Given the description of an element on the screen output the (x, y) to click on. 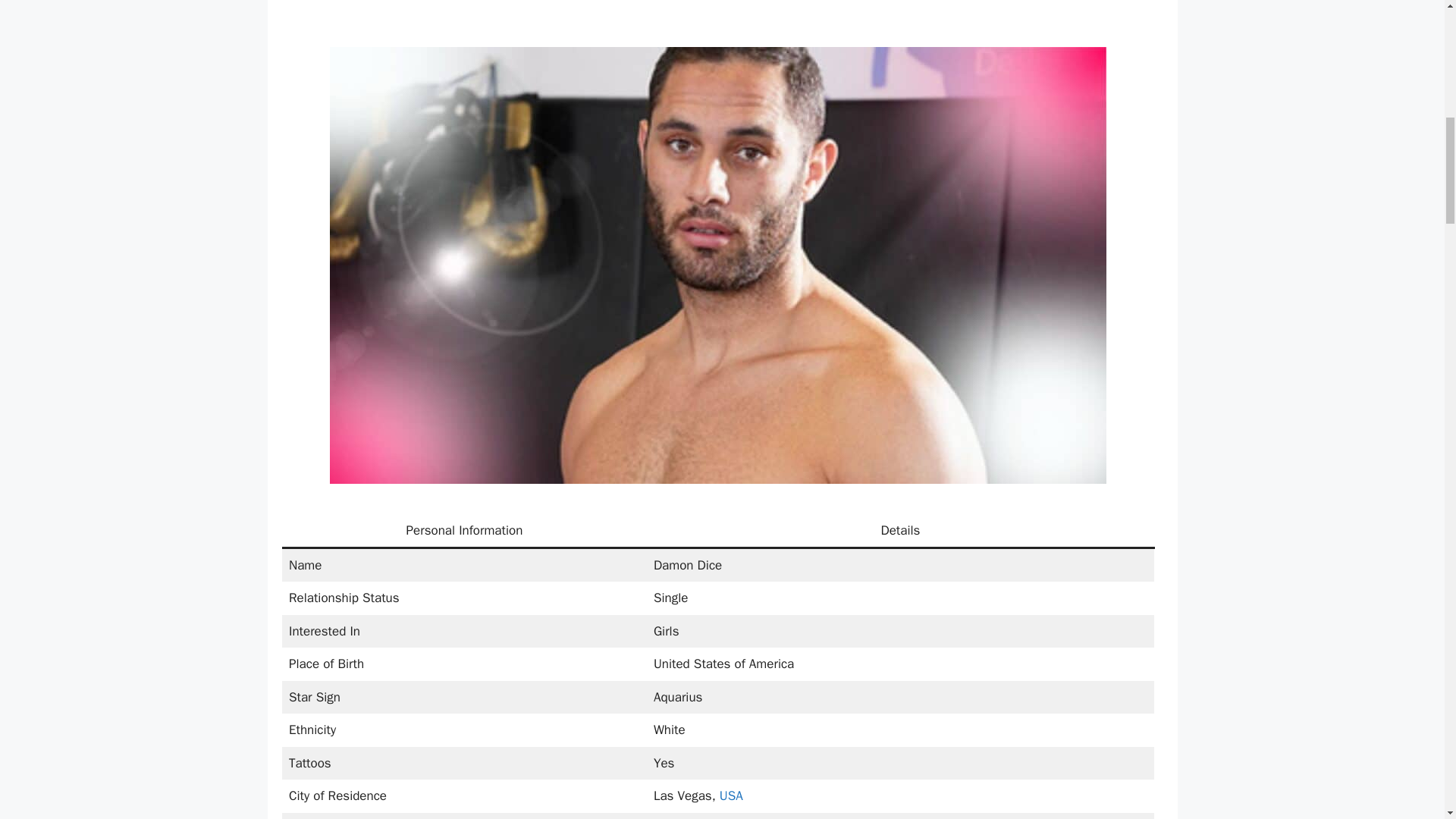
USA (730, 795)
